Given the description of an element on the screen output the (x, y) to click on. 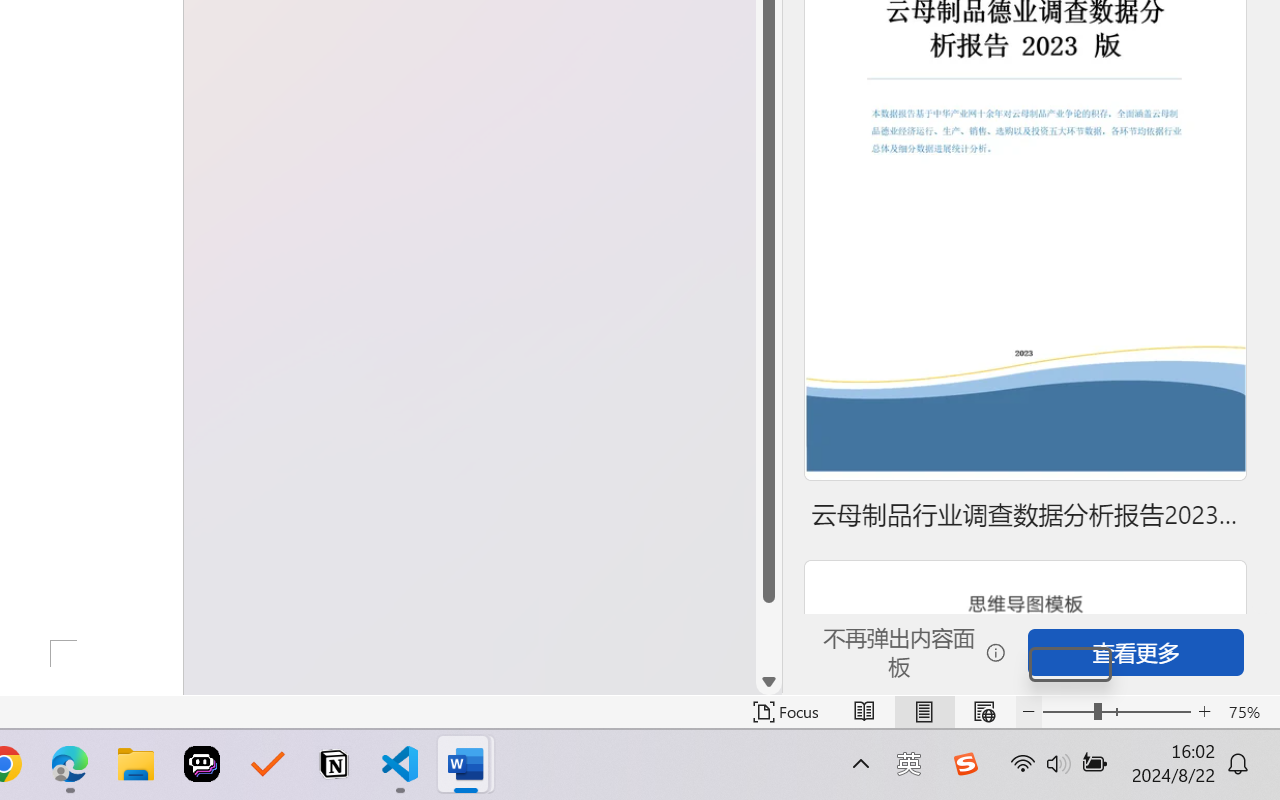
Line down (769, 681)
Focus  (786, 712)
Read Mode (864, 712)
Zoom In (1204, 712)
Web Layout (984, 712)
Zoom (1116, 712)
Zoom Out (1067, 712)
Zoom Out (1070, 664)
Class: Image (965, 764)
Page down (769, 635)
Print Layout (924, 712)
